Given the description of an element on the screen output the (x, y) to click on. 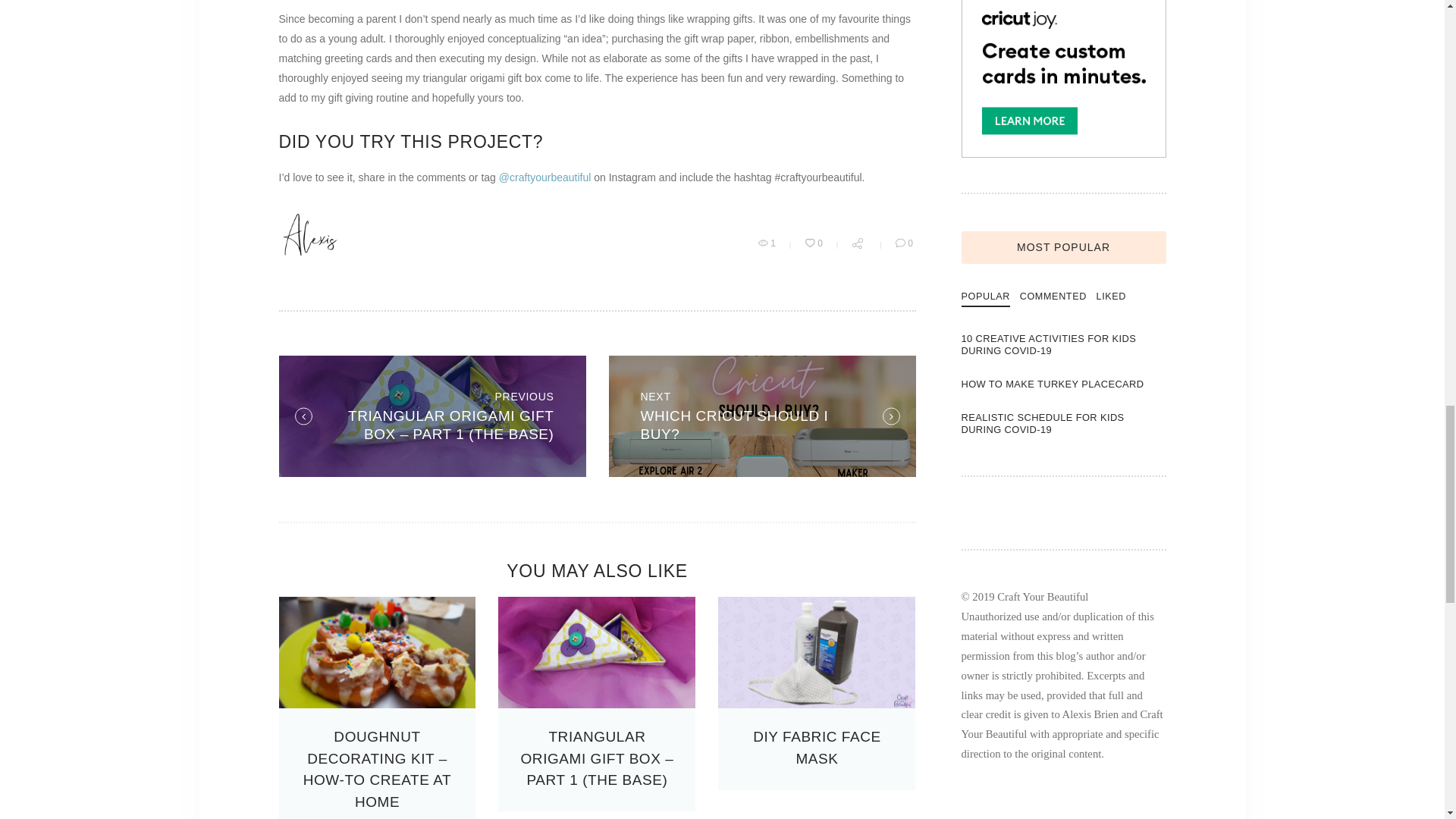
1 (767, 243)
Like (761, 415)
DIY FABRIC FACE MASK (815, 243)
0 (816, 746)
0 (815, 243)
